Given the description of an element on the screen output the (x, y) to click on. 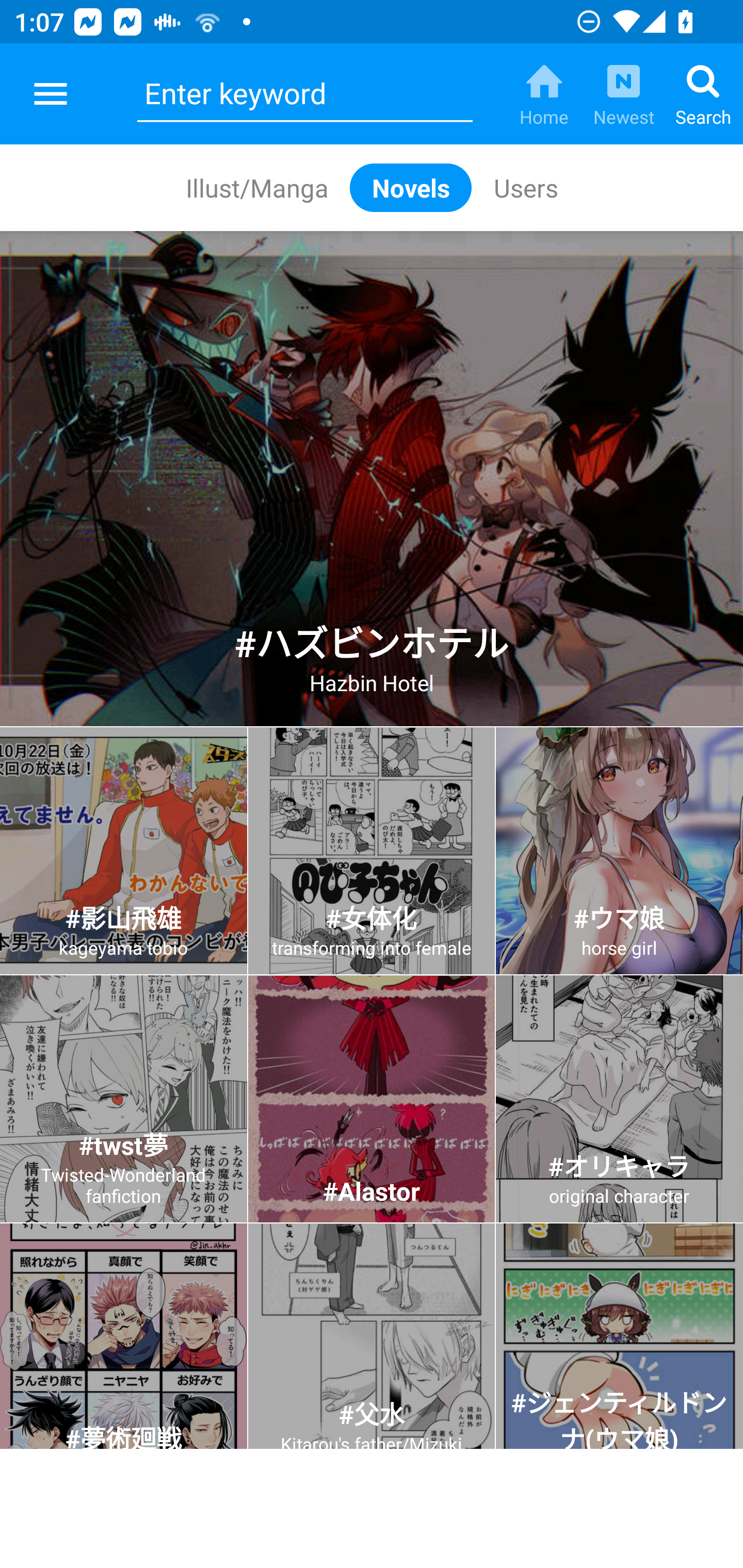
pixiv (50, 93)
Home (543, 93)
Newest (623, 93)
Enter keyword (304, 93)
Illust/Manga (256, 187)
Novels (410, 187)
Users (525, 187)
